Given the description of an element on the screen output the (x, y) to click on. 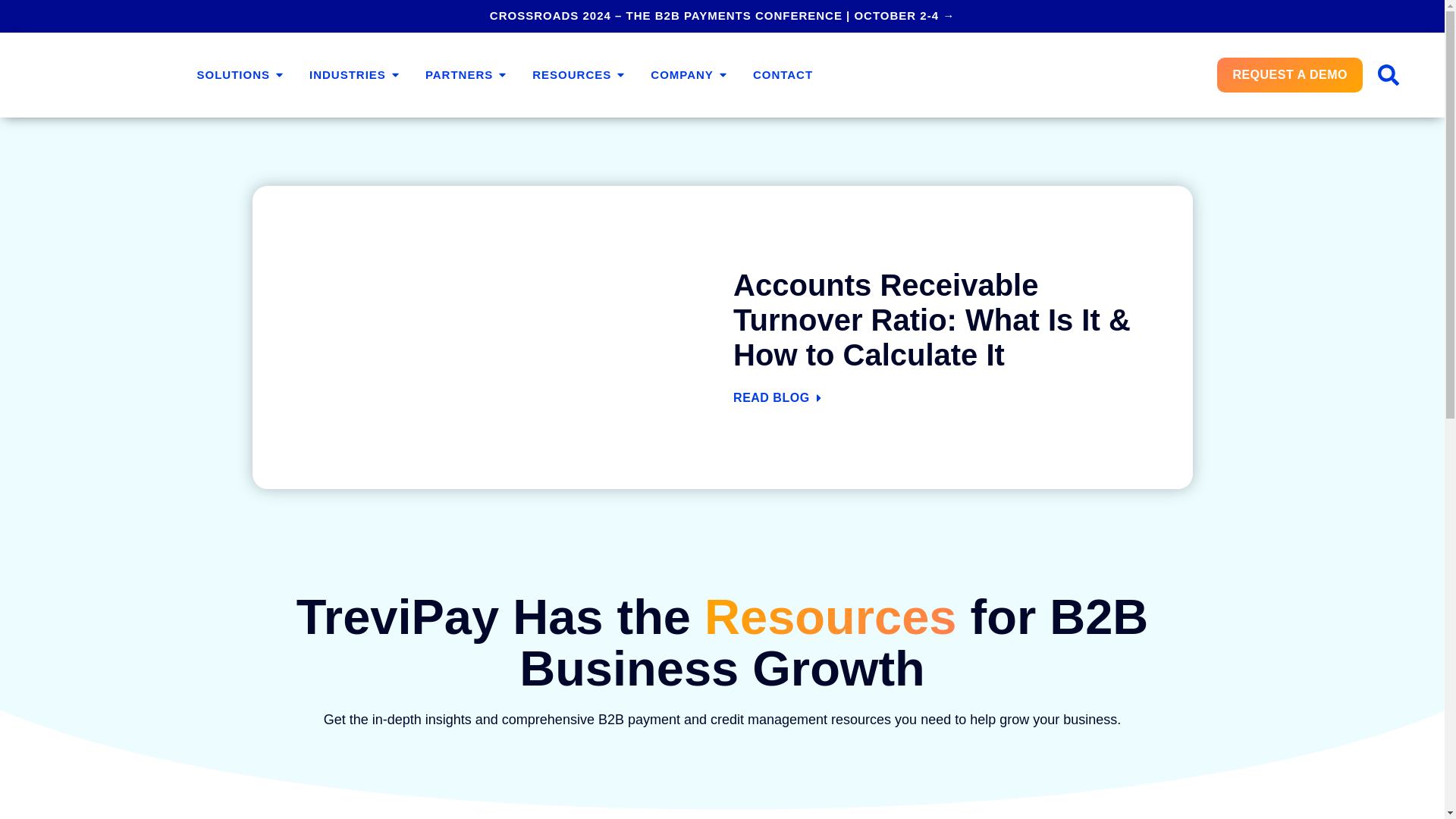
RESOURCES (571, 75)
SOLUTIONS (233, 75)
INDUSTRIES (346, 75)
PARTNERS (459, 75)
